Given the description of an element on the screen output the (x, y) to click on. 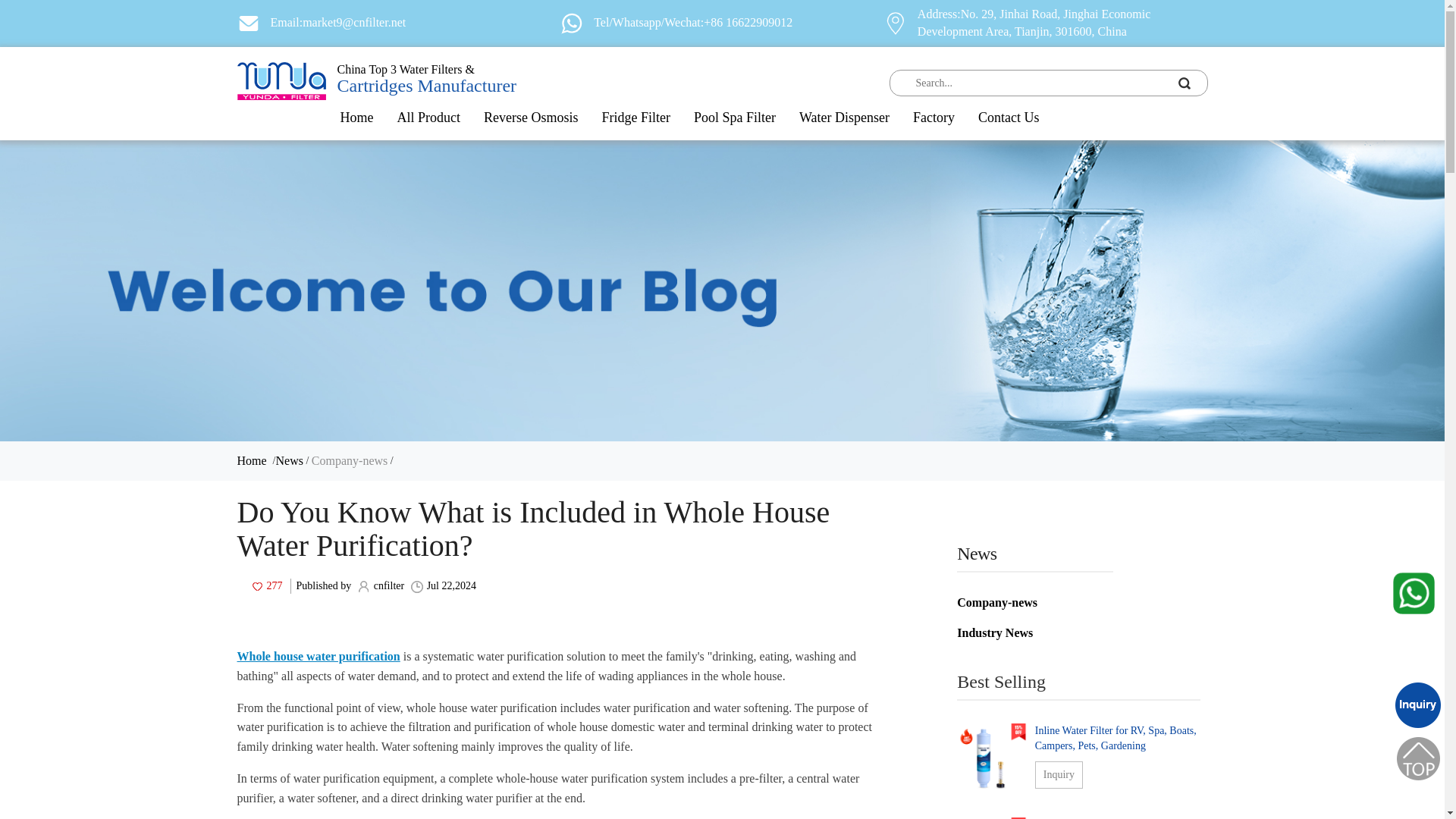
Home (355, 117)
All Product (429, 117)
